Given the description of an element on the screen output the (x, y) to click on. 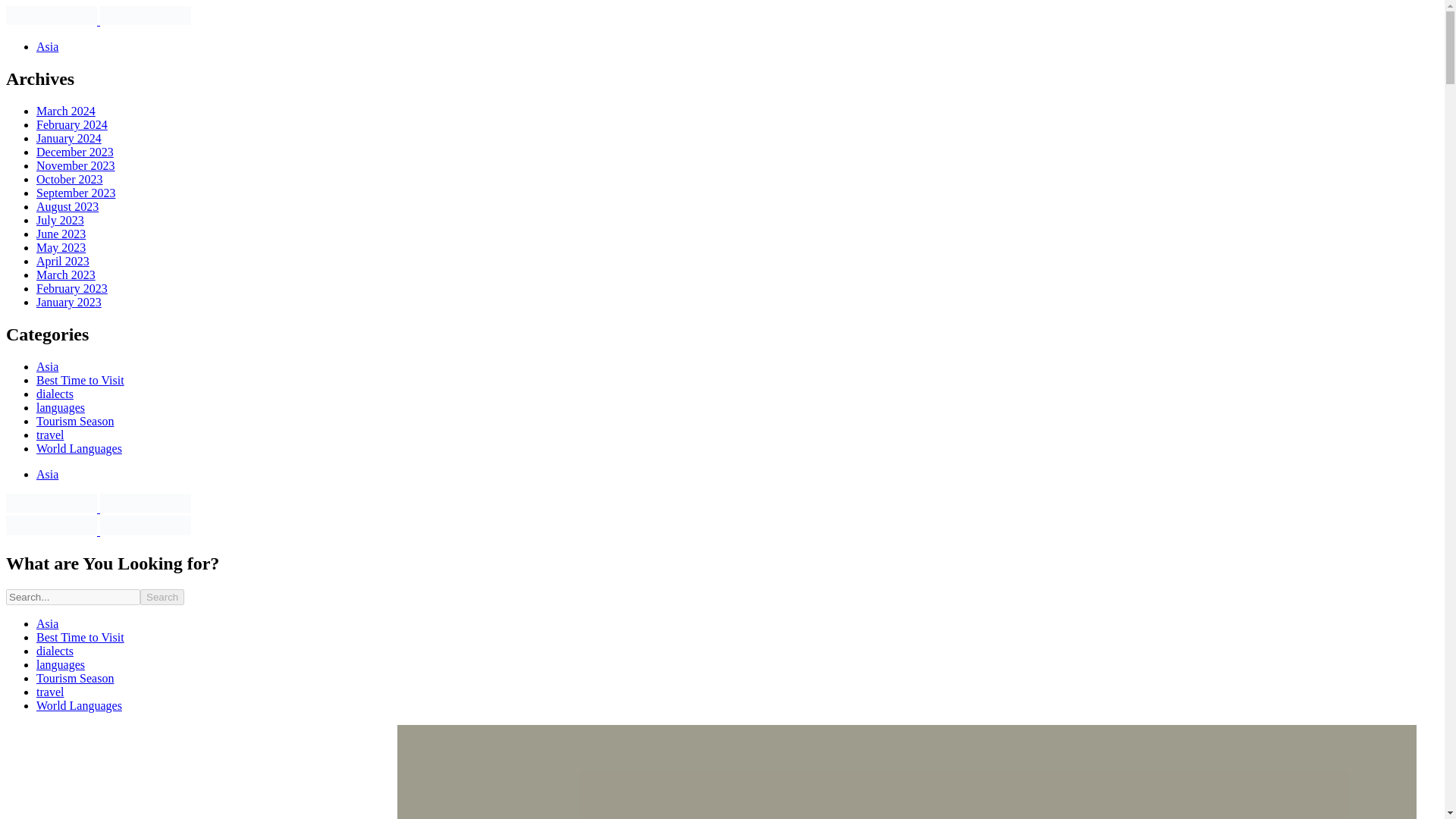
Asia (47, 366)
languages (60, 664)
January 2024 (68, 137)
World Languages (79, 448)
Best Time to Visit (79, 379)
October 2023 (69, 178)
World Languages (79, 705)
Tourism Season (74, 420)
December 2023 (74, 151)
April 2023 (62, 260)
January 2023 (68, 301)
Search (161, 596)
Asia (47, 623)
May 2023 (60, 246)
June 2023 (60, 233)
